Given the description of an element on the screen output the (x, y) to click on. 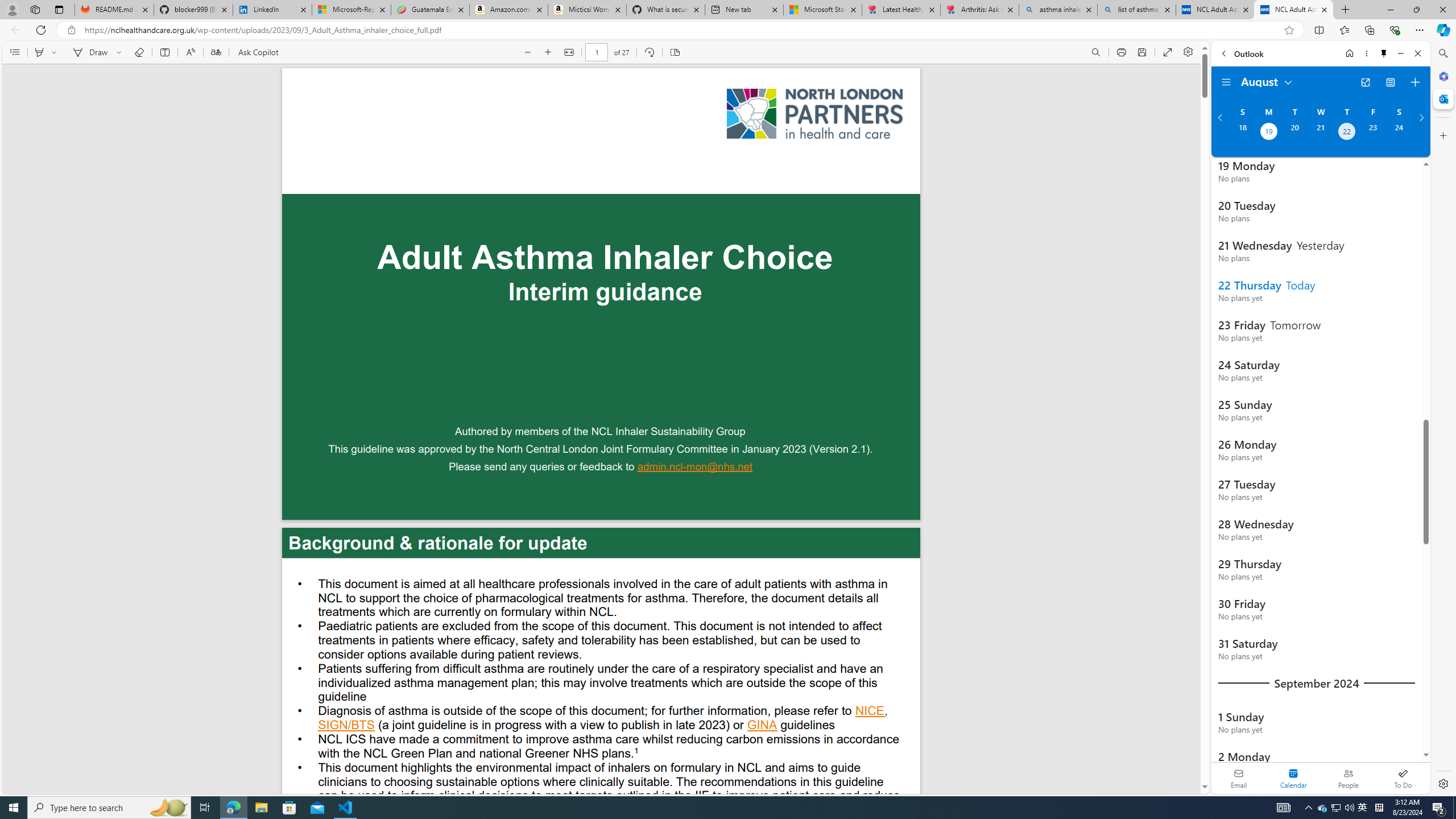
View Switcher. Current view is Agenda view (1390, 82)
Fit to width (Ctrl+\) (569, 52)
Highlight (39, 52)
Microsoft-Report a Concern to Bing (351, 9)
Unlabeled graphic (814, 114)
Microsoft 365 (1442, 76)
Personal Profile (12, 9)
Erase (138, 52)
Add text (164, 52)
Folder navigation (1225, 82)
NCL Adult Asthma Inhaler Choice Guideline (1293, 9)
Microsoft Start (822, 9)
Enter PDF full screen (1167, 52)
